Given the description of an element on the screen output the (x, y) to click on. 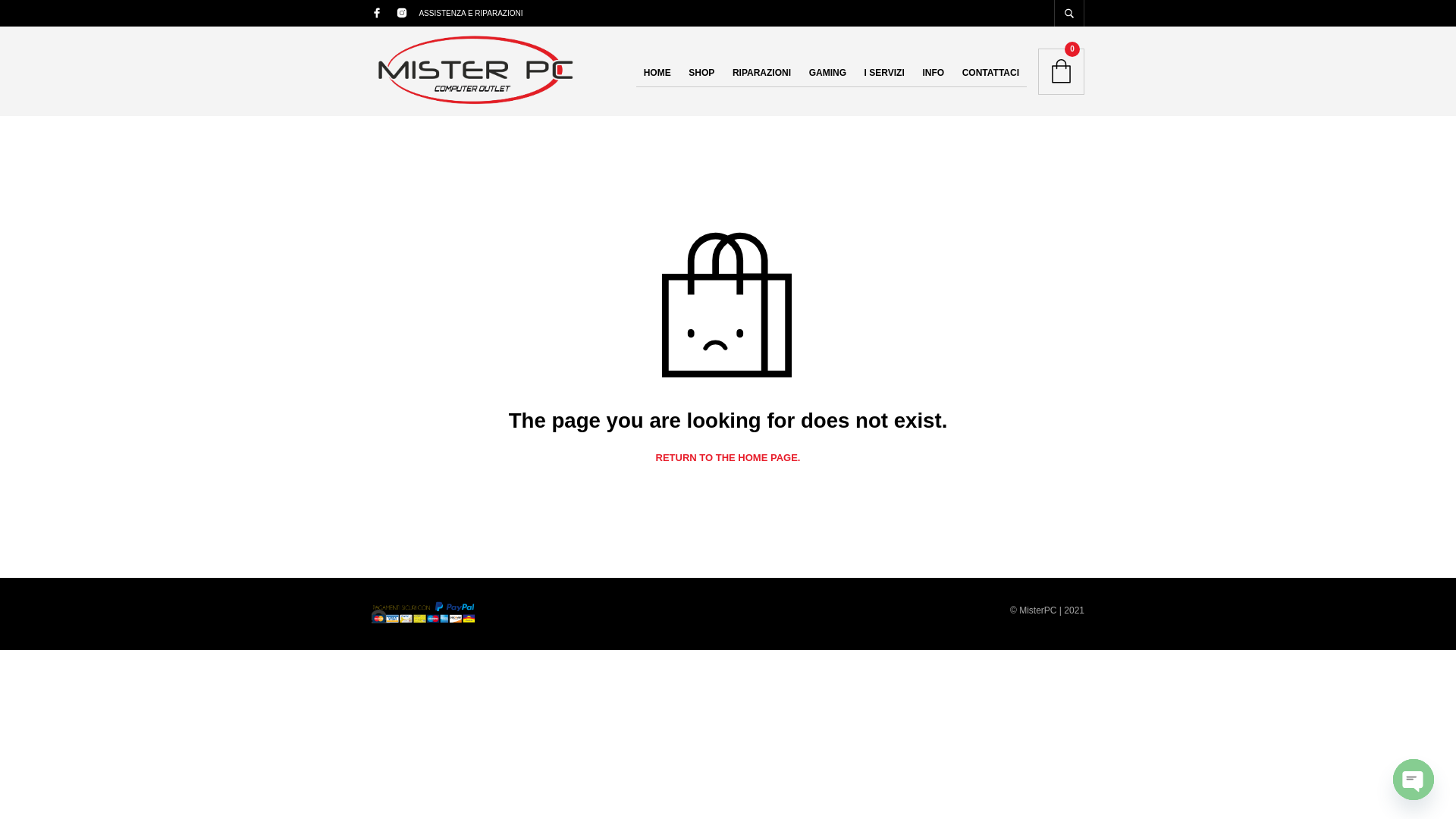
0 (1061, 71)
CONTATTACI (990, 72)
INFO (933, 72)
I SERVIZI (884, 72)
SHOP (701, 72)
HOME (657, 72)
RETURN TO THE HOME PAGE. (727, 458)
RIPARAZIONI (761, 72)
GAMING (827, 72)
